Given the description of an element on the screen output the (x, y) to click on. 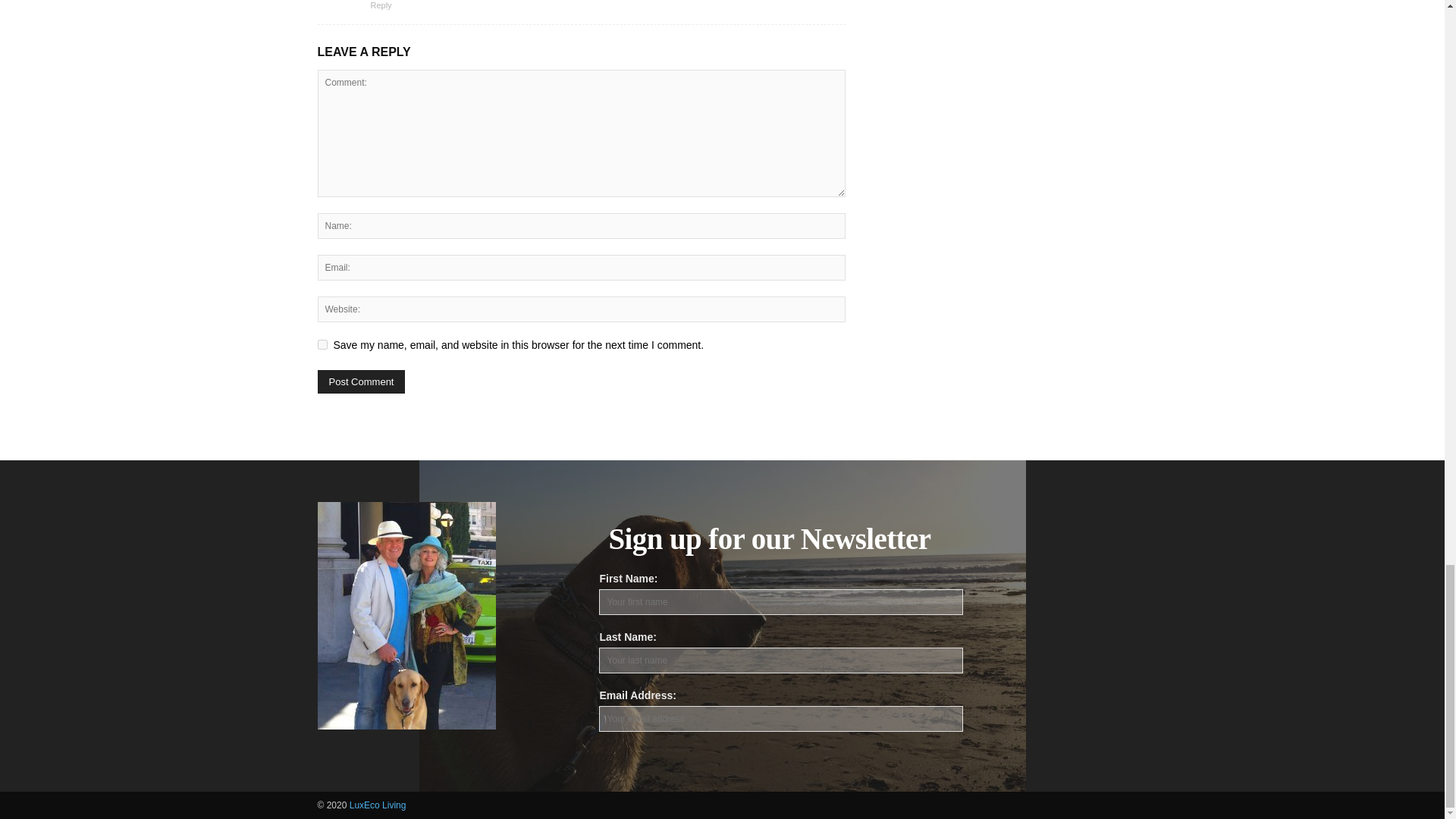
Post Comment (360, 381)
yes (321, 344)
